Given the description of an element on the screen output the (x, y) to click on. 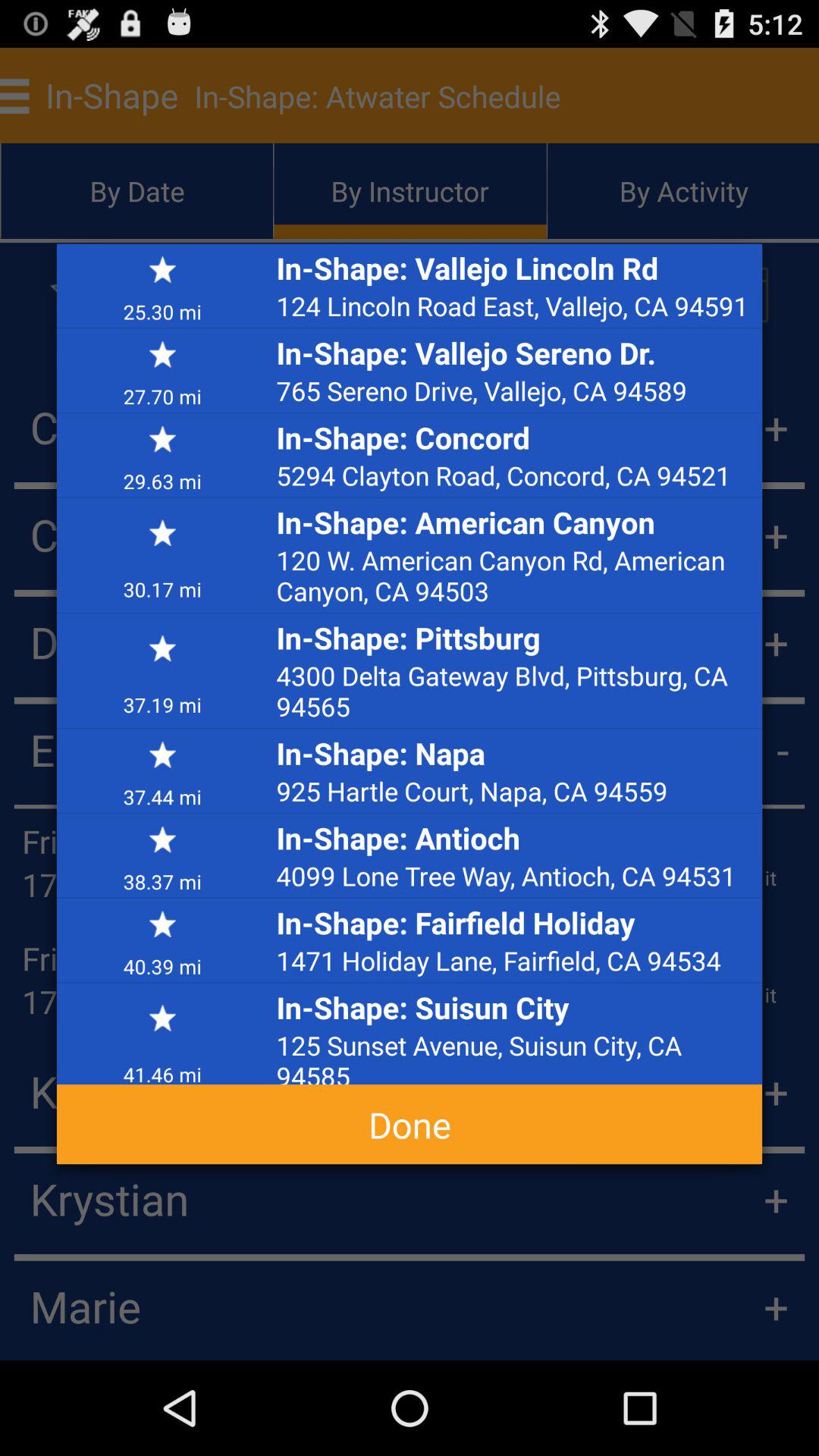
flip to 29.63 mi icon (162, 480)
